Given the description of an element on the screen output the (x, y) to click on. 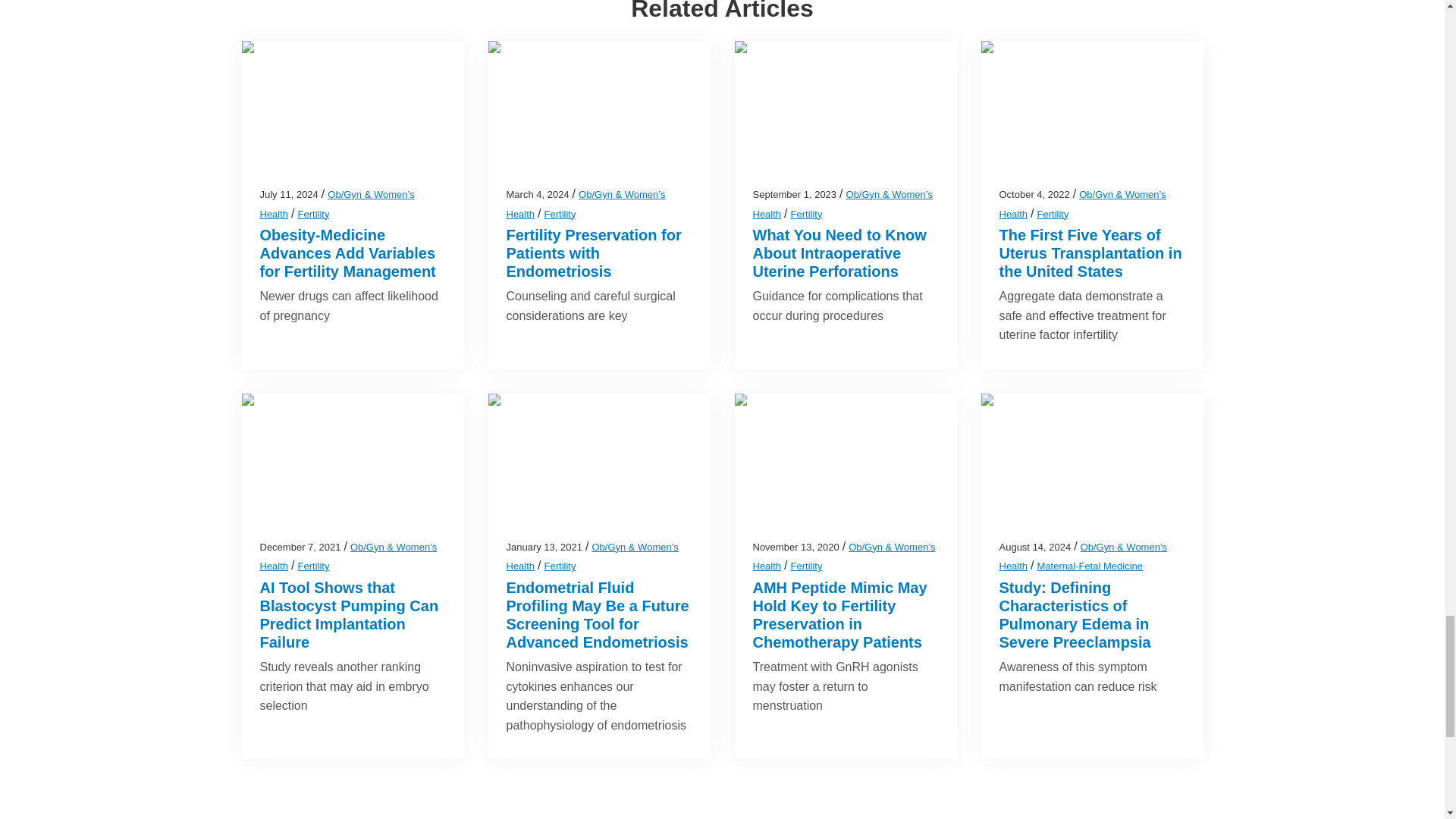
Fertility Preservation for Patients with Endometriosis (593, 253)
Fertility (560, 214)
Fertility (314, 214)
